Given the description of an element on the screen output the (x, y) to click on. 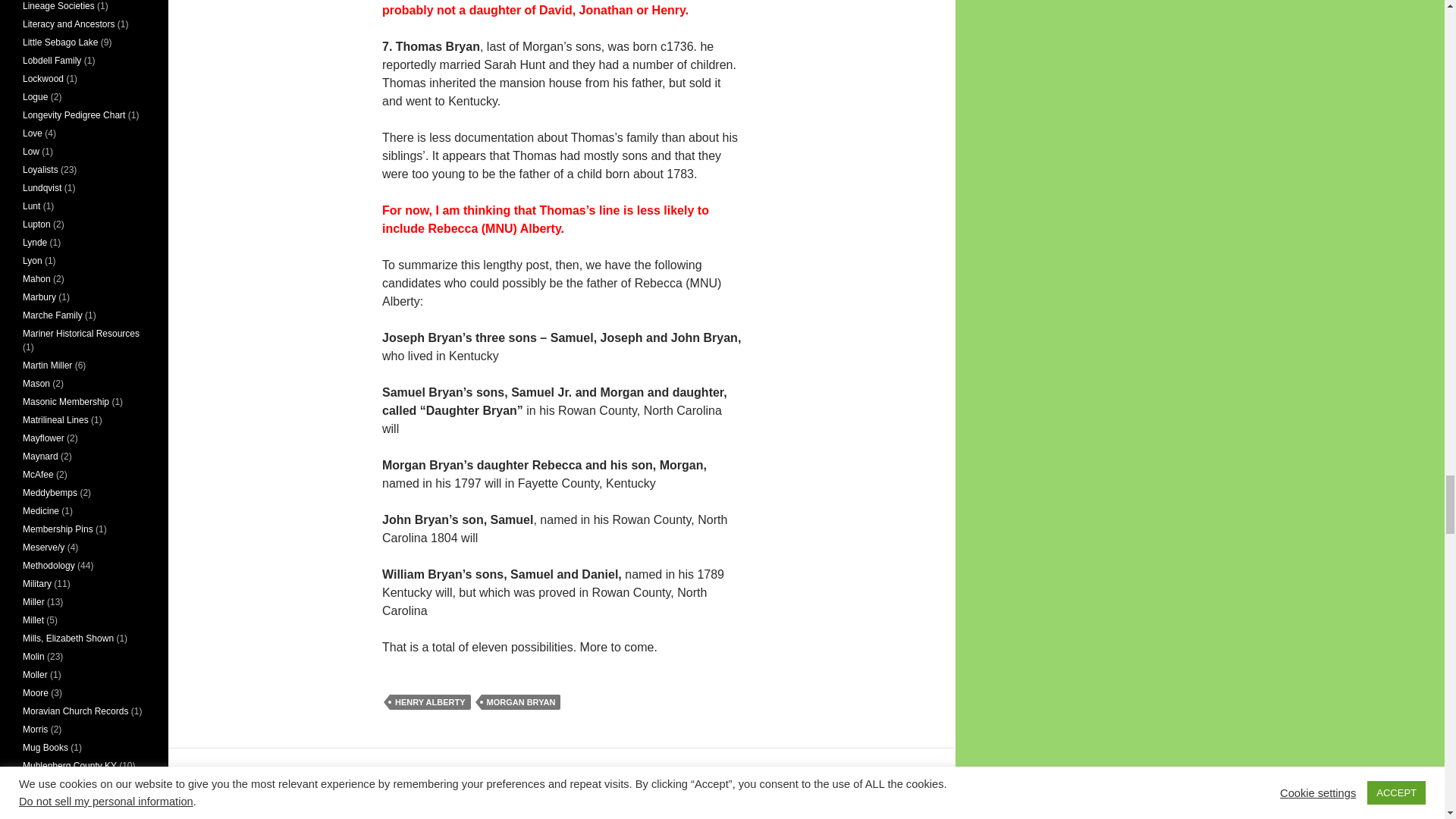
MORGAN BRYAN (520, 702)
BRYAN LIFE IN ROWAN COUNTY, NORTH CAROLINA AND BEYOND (550, 810)
HENRY ALBERTY (430, 702)
